Given the description of an element on the screen output the (x, y) to click on. 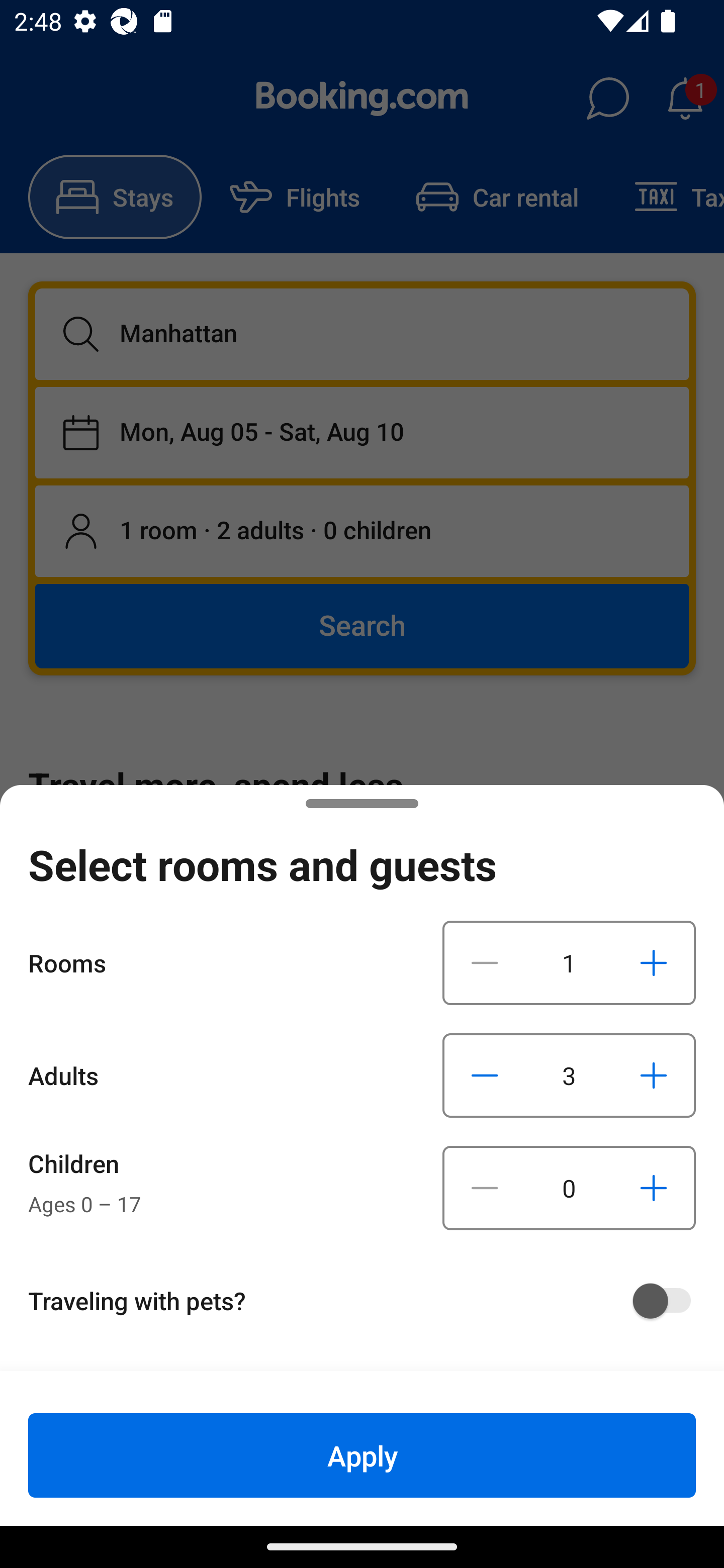
Decrease (484, 962)
Increase (653, 962)
Decrease (484, 1075)
Increase (653, 1075)
Decrease (484, 1188)
Increase (653, 1188)
Traveling with pets? (369, 1300)
Apply (361, 1454)
